Given the description of an element on the screen output the (x, y) to click on. 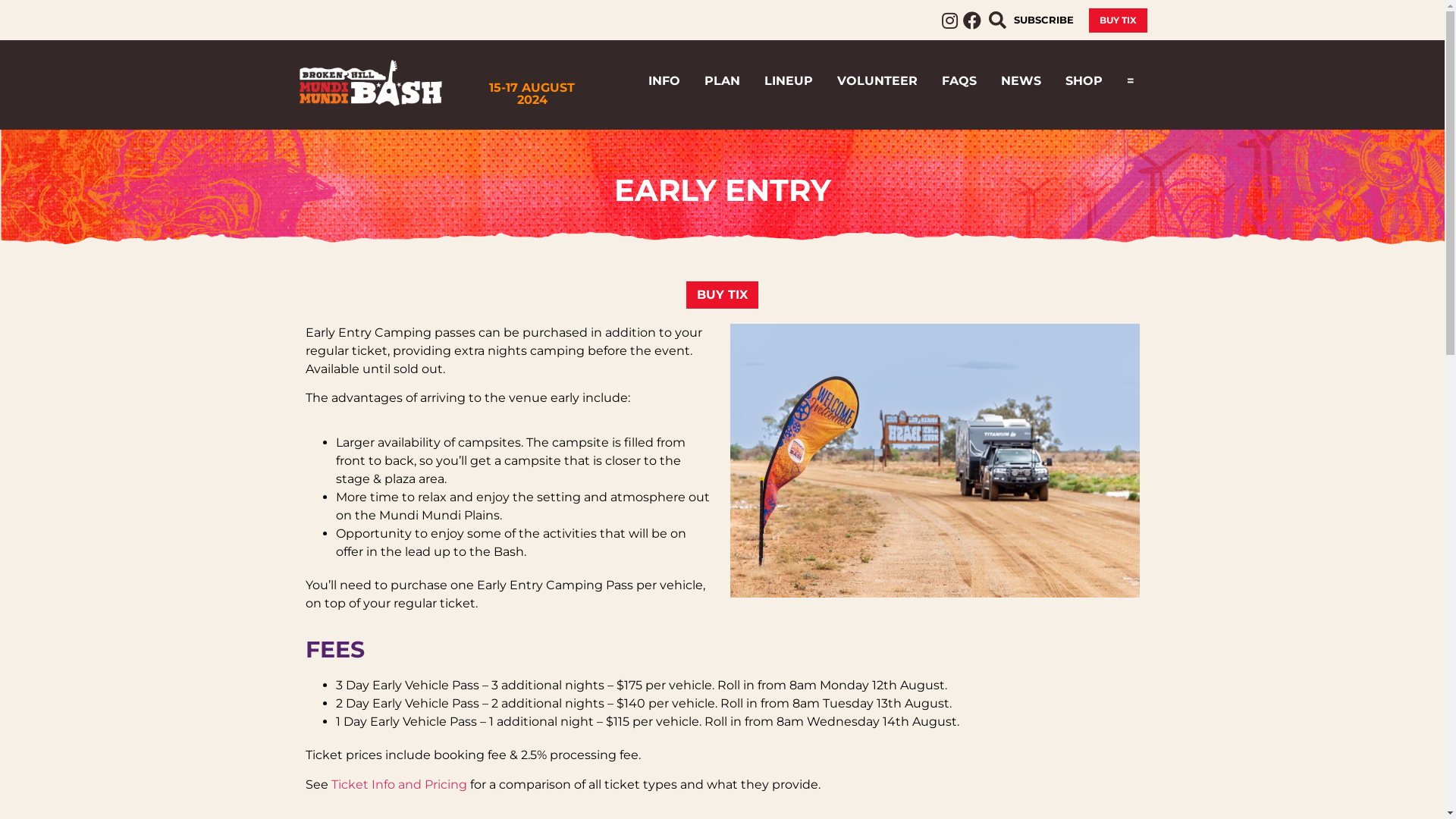
BUY TIX Element type: text (722, 294)
BUY TIX Element type: text (1117, 19)
VOLUNTEER Element type: text (877, 81)
NEWS Element type: text (1021, 81)
LINEUP Element type: text (788, 81)
FAQS Element type: text (958, 81)
PLAN Element type: text (722, 81)
INFO Element type: text (664, 81)
= Element type: text (1130, 81)
SUBSCRIBE Element type: text (1043, 19)
SHOP Element type: text (1083, 81)
Ticket Info and Pricing Element type: text (398, 784)
